Given the description of an element on the screen output the (x, y) to click on. 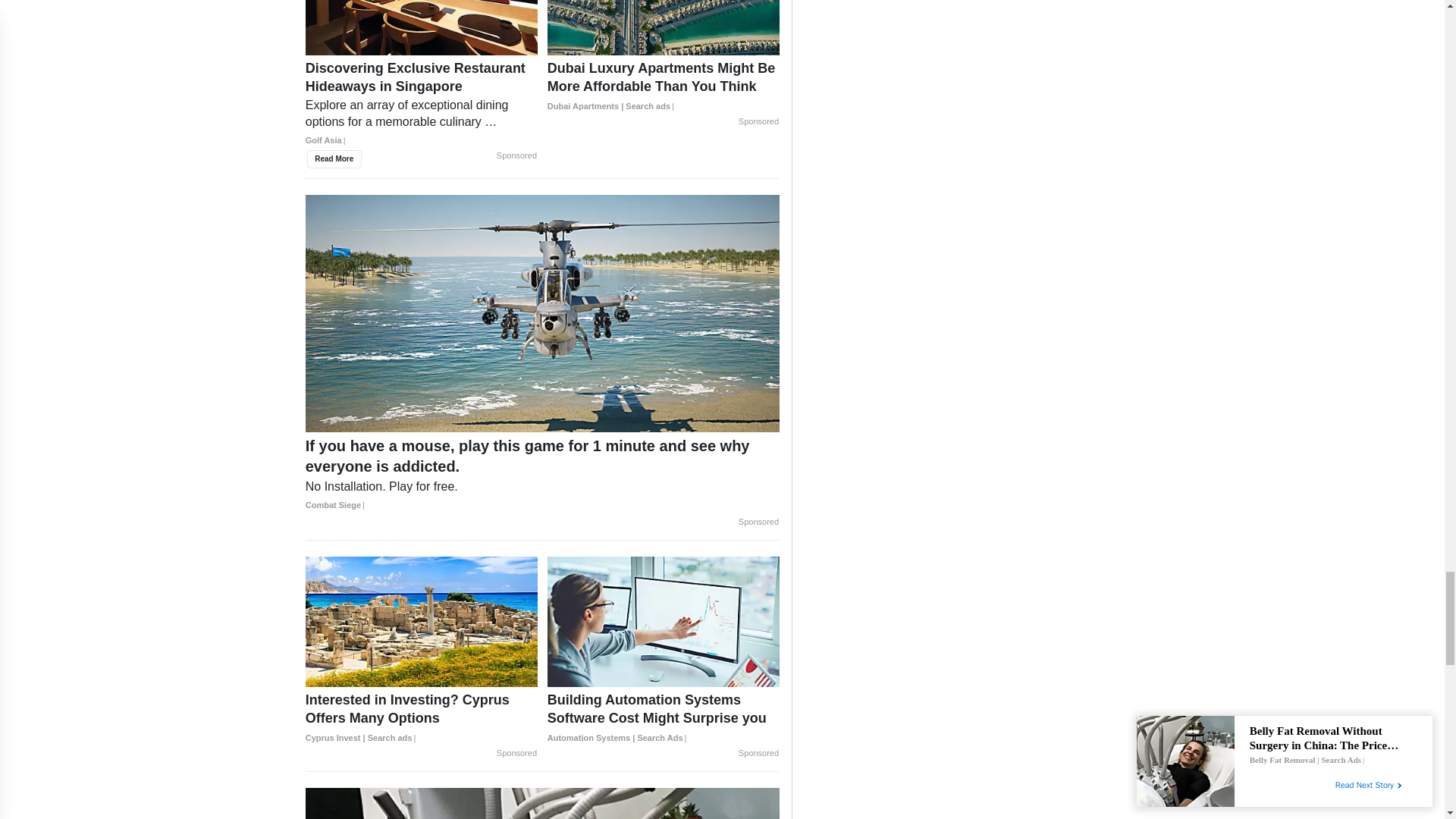
Discovering Exclusive Restaurant Hideaways in Singapore (421, 109)
Discovering Exclusive Restaurant Hideaways in Singapore (421, 27)
